Given the description of an element on the screen output the (x, y) to click on. 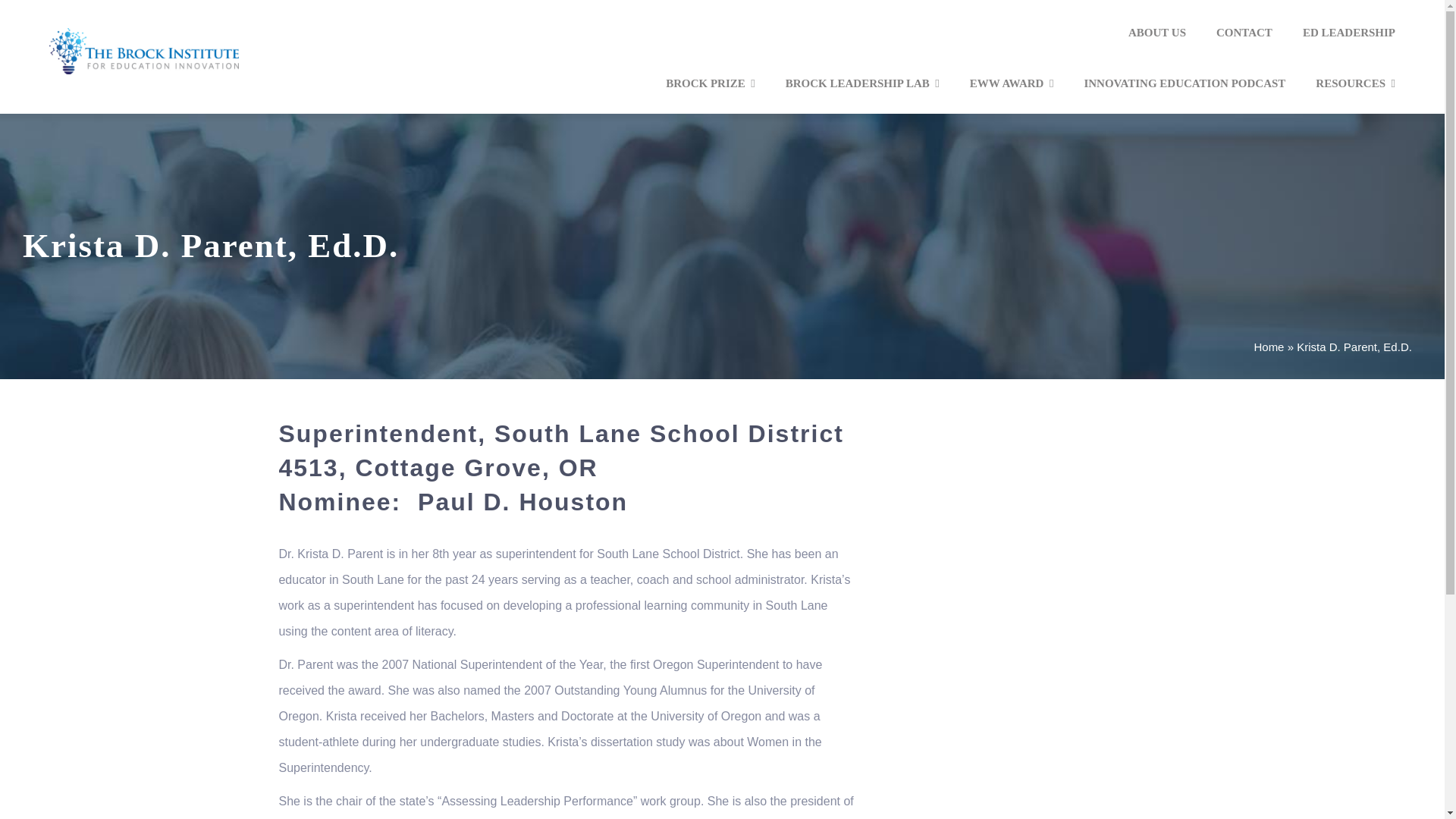
ABOUT US (1157, 30)
EWW AWARD (1011, 75)
CONTACT (1243, 30)
BROCK PRIZE (710, 75)
ED LEADERSHIP (1348, 30)
BROCK LEADERSHIP LAB (862, 75)
INNOVATING EDUCATION PODCAST (1184, 75)
